Given the description of an element on the screen output the (x, y) to click on. 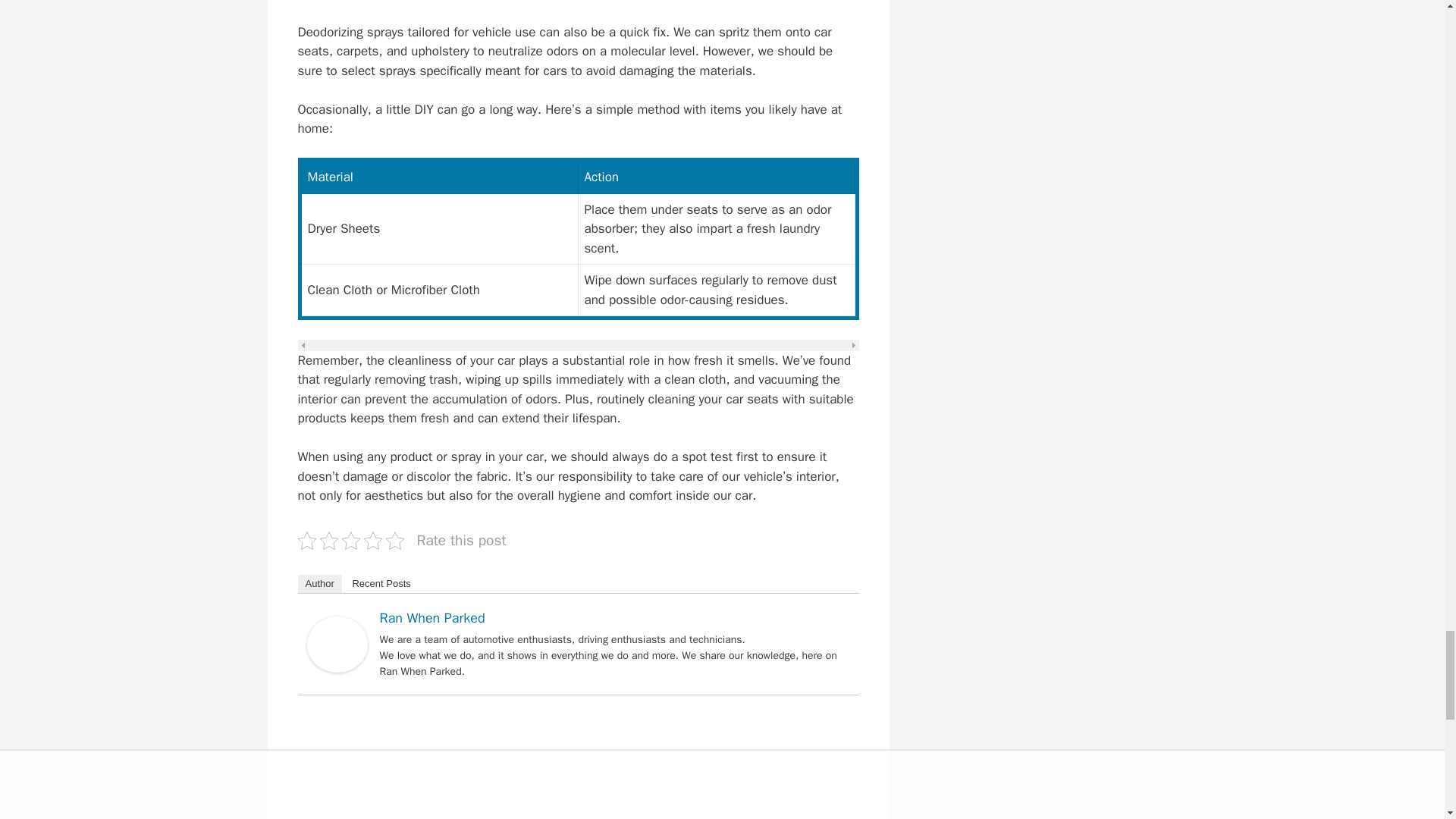
Ran When Parked (335, 668)
